Given the description of an element on the screen output the (x, y) to click on. 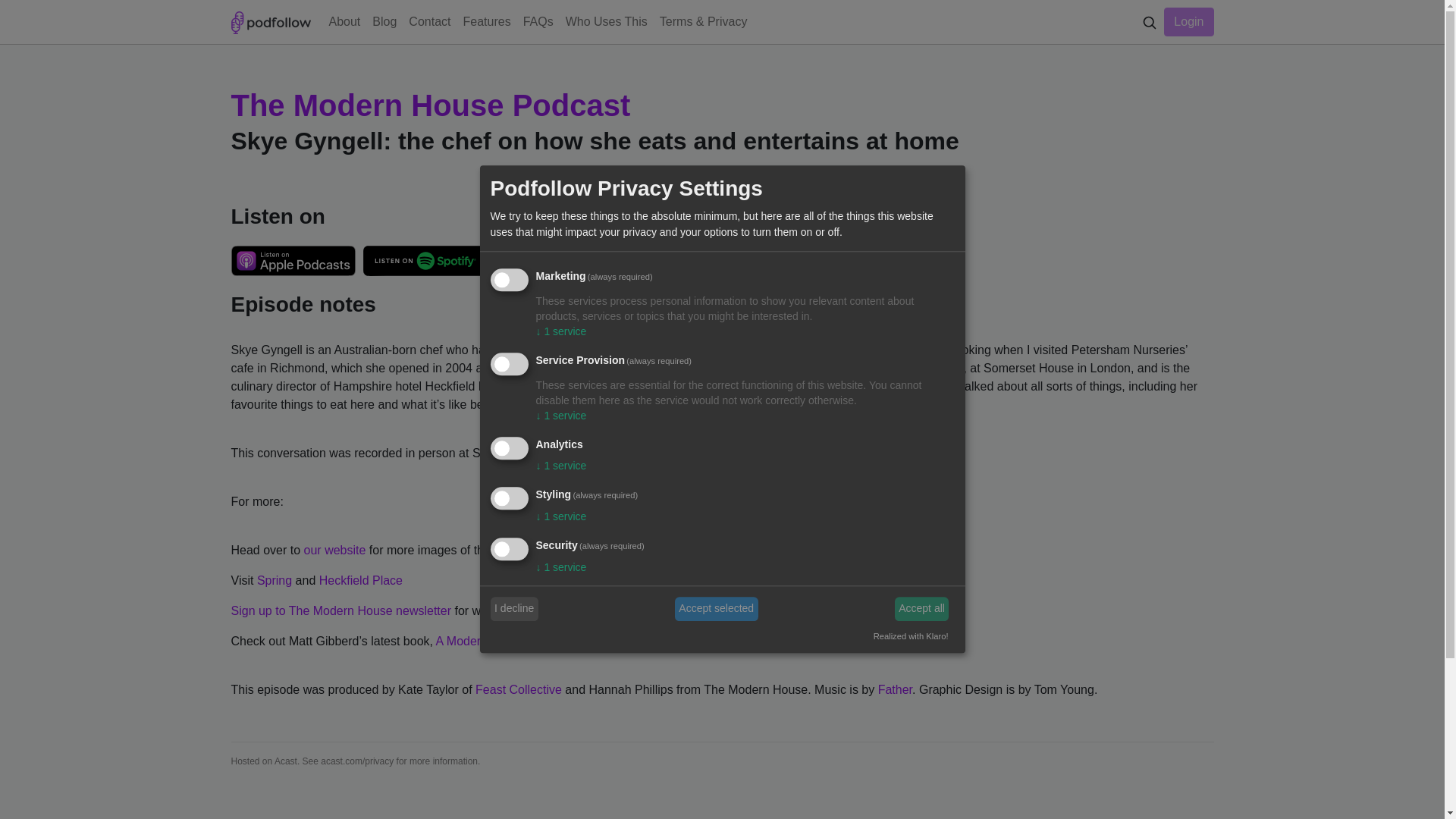
Features (486, 21)
Blog (384, 21)
The Modern House Podcast (430, 105)
About (344, 21)
Search (1149, 22)
Login (1187, 21)
Heckfield Place (360, 580)
A Modern Way To Live (495, 640)
our website (335, 549)
FAQs (537, 21)
Spring (274, 580)
Search (1149, 21)
This services is always required (603, 494)
This services is always required (611, 545)
Sign up to The Modern House newsletter (340, 610)
